Given the description of an element on the screen output the (x, y) to click on. 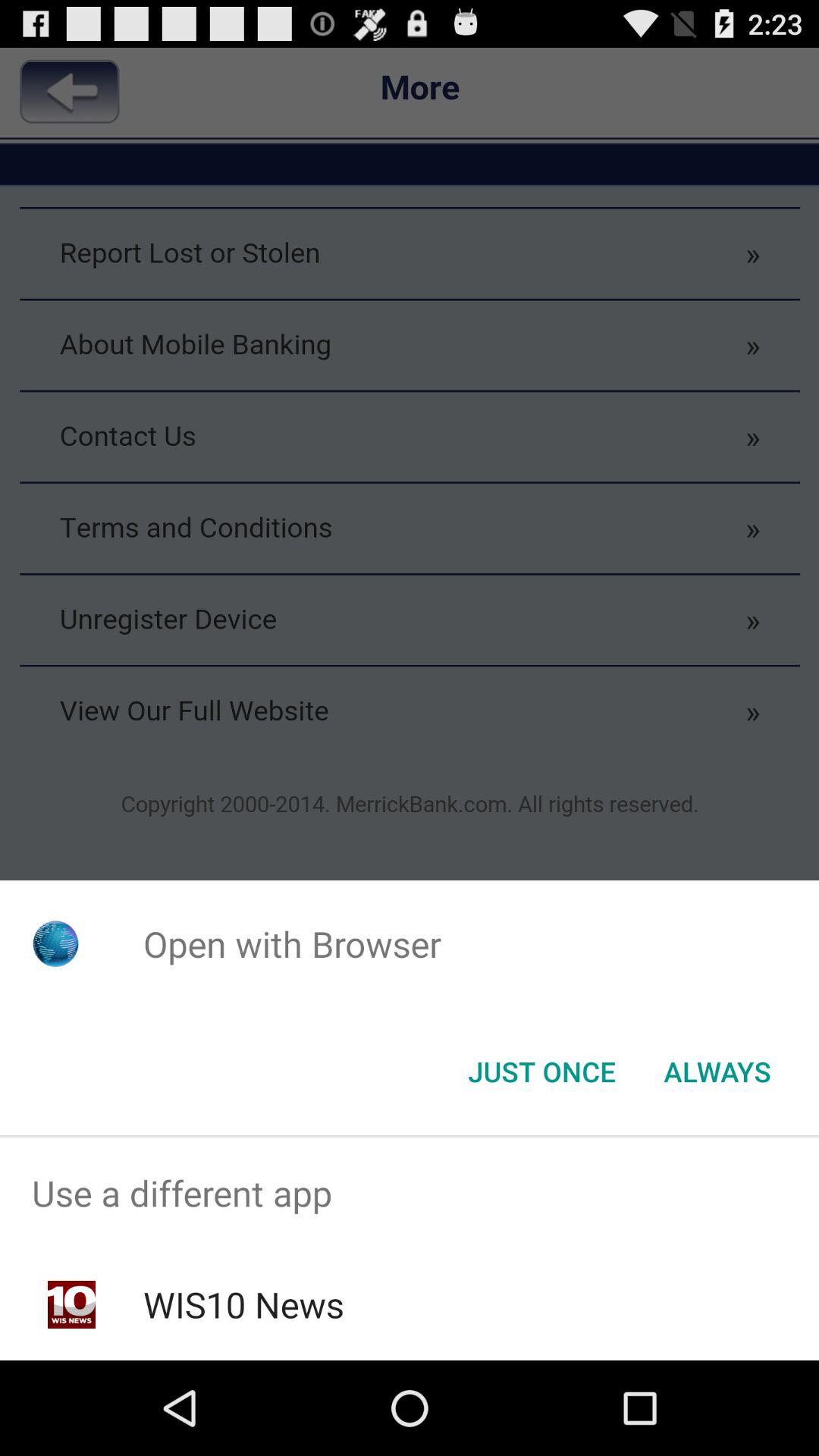
select icon at the bottom right corner (717, 1071)
